Given the description of an element on the screen output the (x, y) to click on. 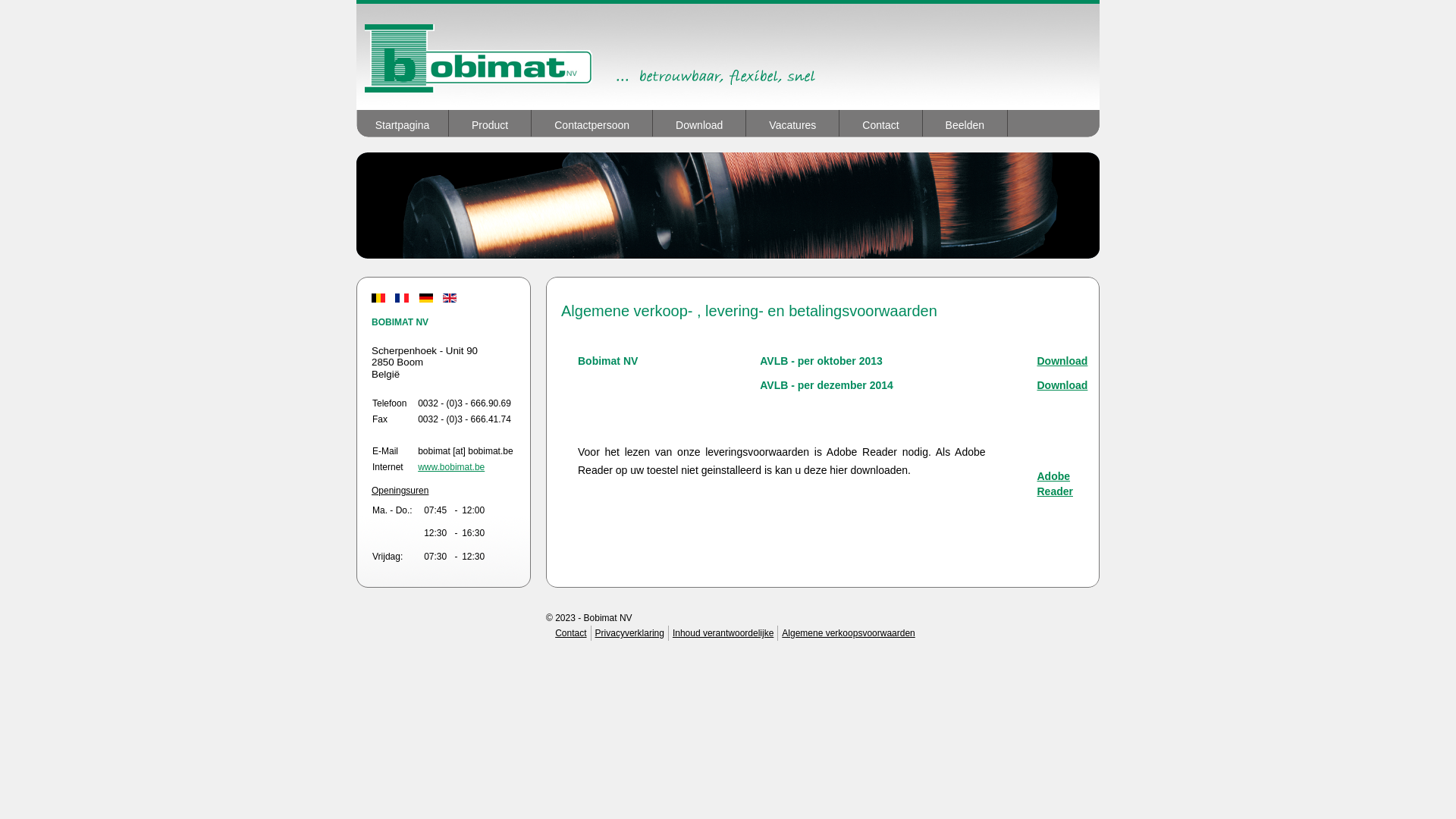
Deutsch Element type: hover (426, 297)
Inhoud verantwoordelijke Element type: text (722, 632)
Algemene verkoopsvoorwaarden Element type: text (847, 632)
Contact Element type: text (570, 632)
Startpagina Element type: text (402, 122)
English (UK) Element type: hover (449, 297)
Product Element type: text (489, 122)
Privacyverklaring Element type: text (629, 632)
Contact Element type: text (880, 122)
Contactpersoon Element type: text (591, 122)
www.bobimat.be Element type: text (450, 466)
Nederlands Element type: hover (378, 297)
Download Element type: text (1061, 360)
HELCA Metall Element type: hover (727, 56)
Vacatures Element type: text (792, 122)
Adobe Reader Element type: text (1054, 483)
Download Element type: text (699, 122)
Download Element type: text (1061, 385)
Beelden Element type: text (964, 122)
